Given the description of an element on the screen output the (x, y) to click on. 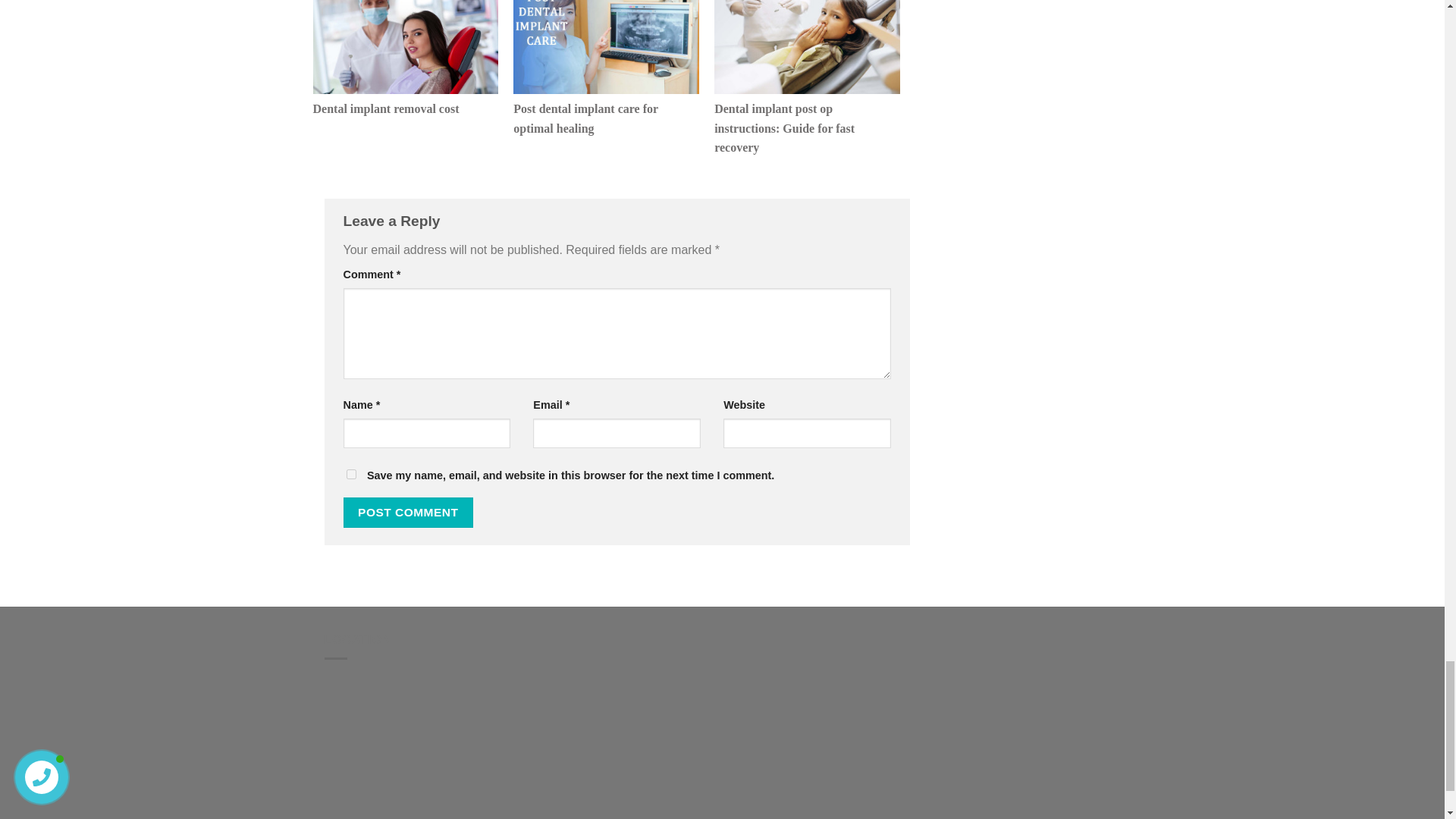
Dental implant post op instructions: Guide for fast recovery (806, 126)
Post Comment (407, 512)
Post dental implant care for optimal healing (605, 116)
Dental implant removal cost (405, 106)
yes (350, 474)
Post Comment (407, 512)
